Given the description of an element on the screen output the (x, y) to click on. 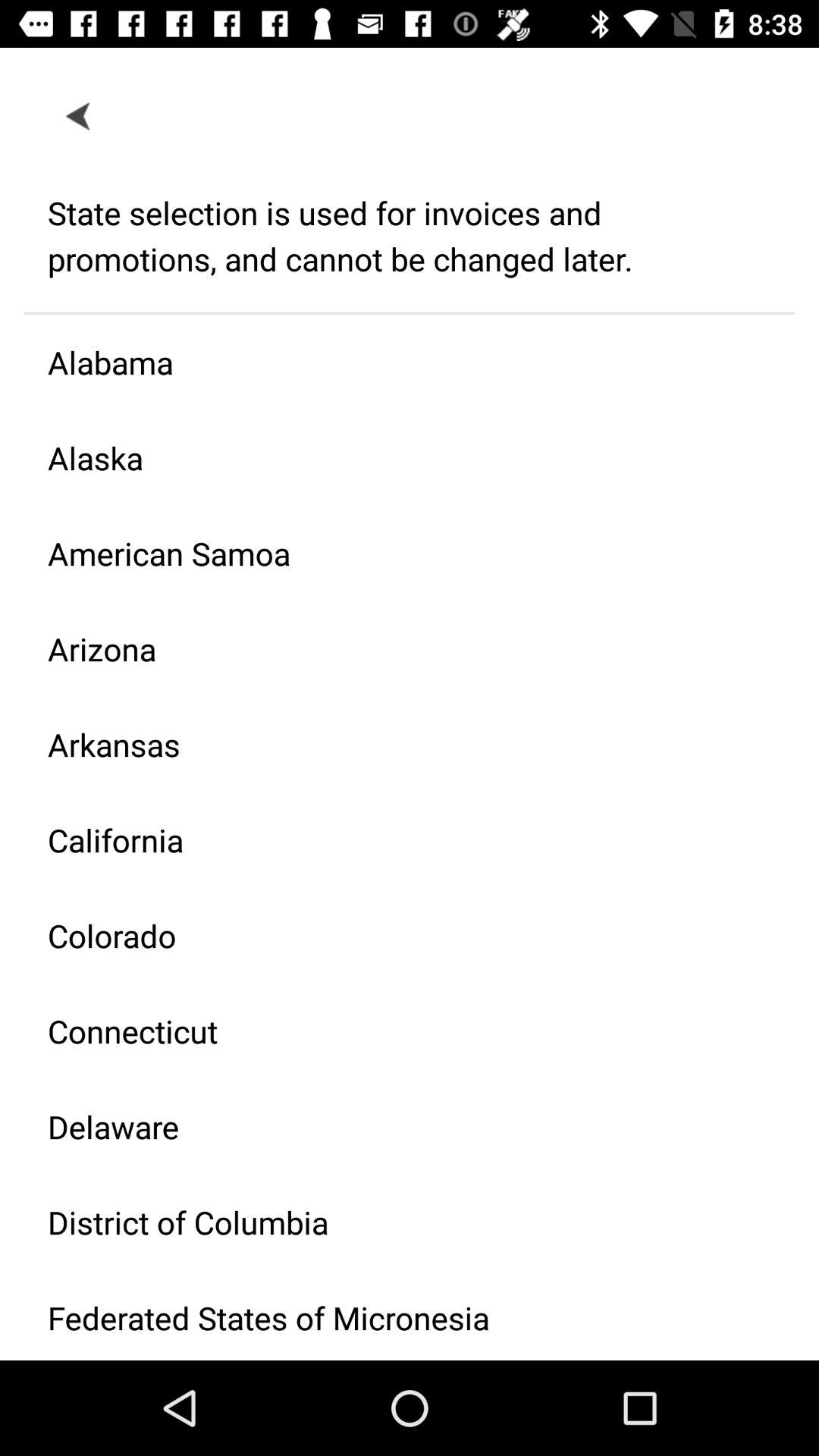
tap the item below the delaware item (397, 1221)
